Given the description of an element on the screen output the (x, y) to click on. 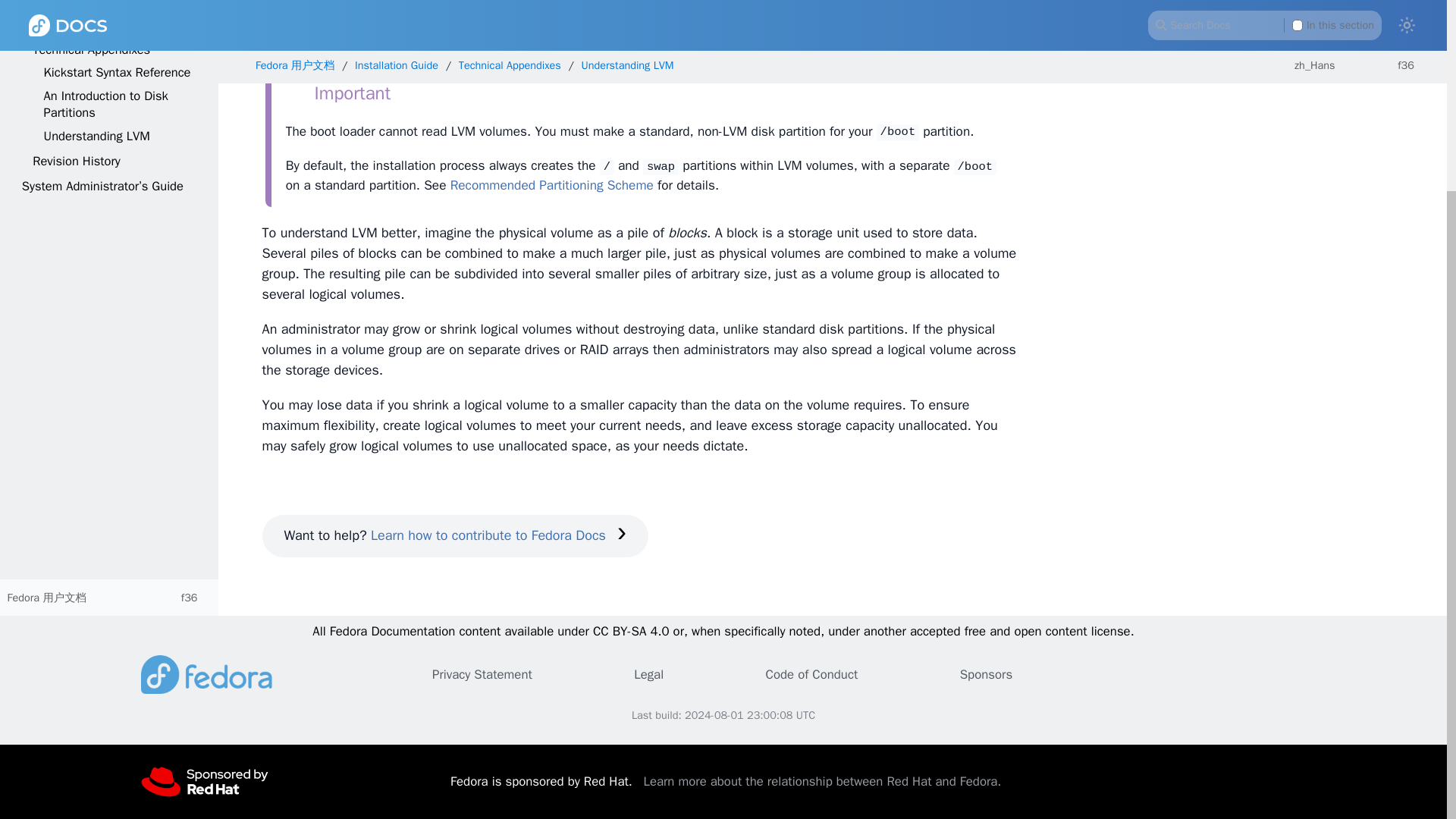
Important (336, 94)
